Given the description of an element on the screen output the (x, y) to click on. 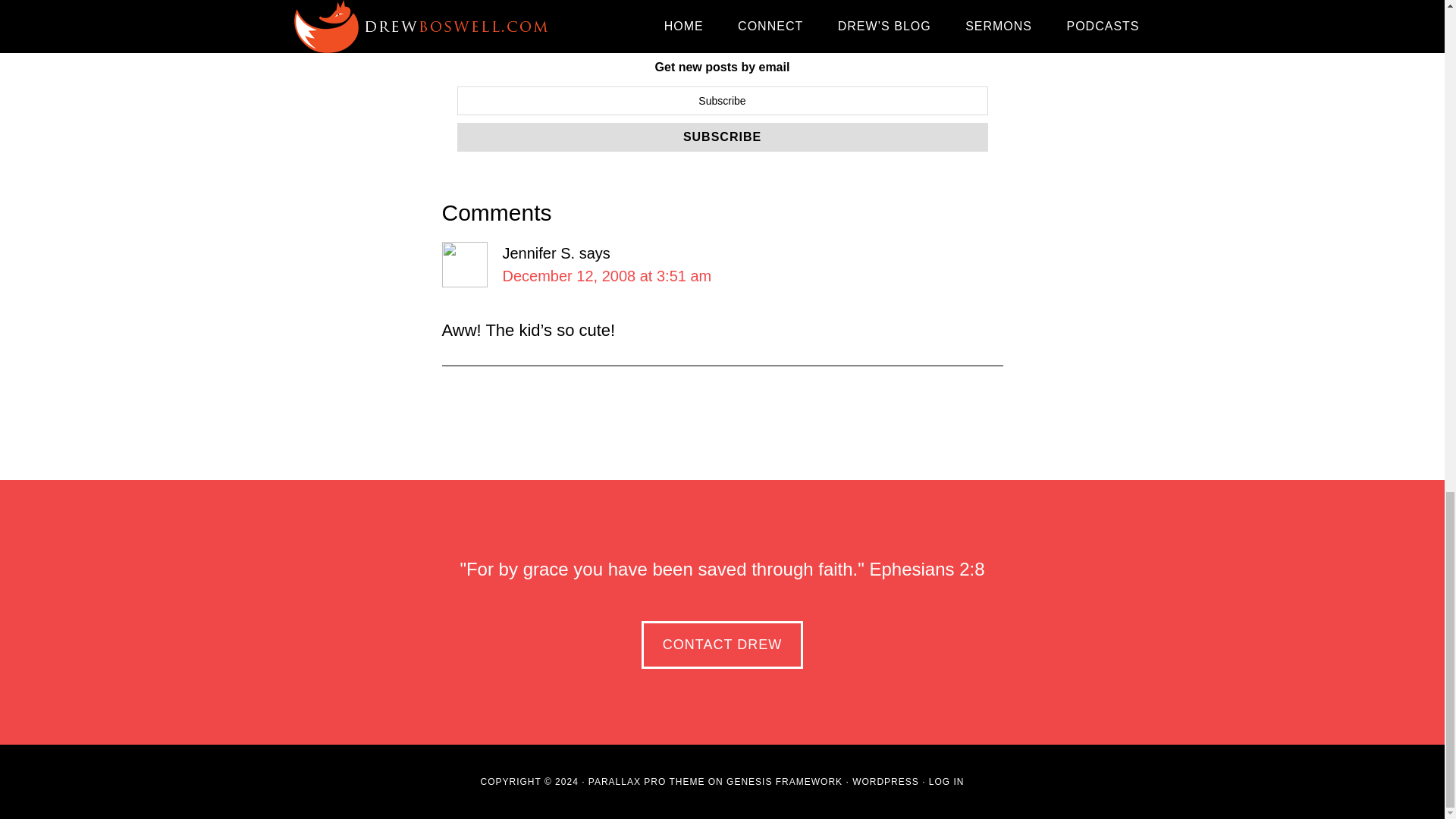
Subscribe (722, 136)
GENESIS FRAMEWORK (784, 781)
PARALLAX PRO THEME (646, 781)
Subscribe (722, 136)
December 12, 2008 at 3:51 am (606, 275)
LOG IN (945, 781)
WORDPRESS (884, 781)
CONTACT DREW (722, 644)
